Given the description of an element on the screen output the (x, y) to click on. 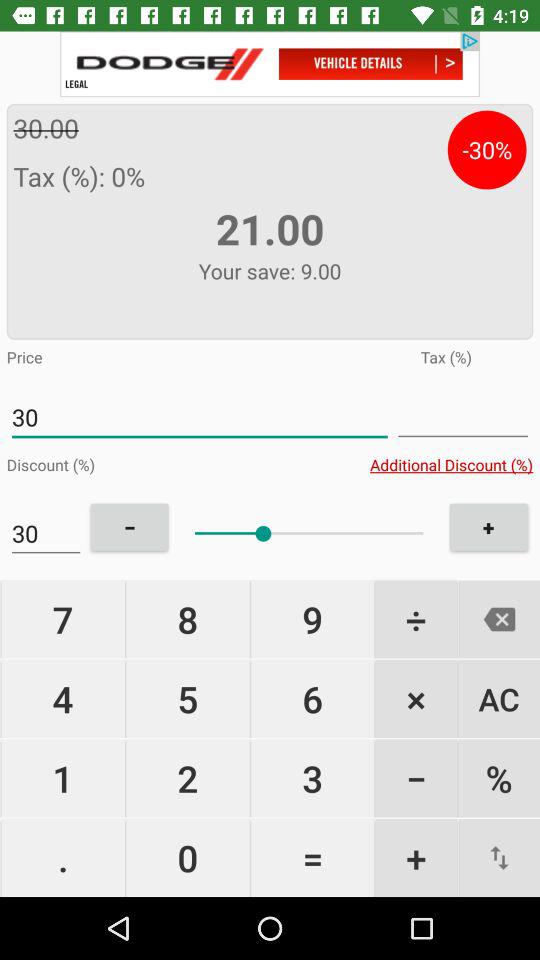
cancilation (499, 619)
